Given the description of an element on the screen output the (x, y) to click on. 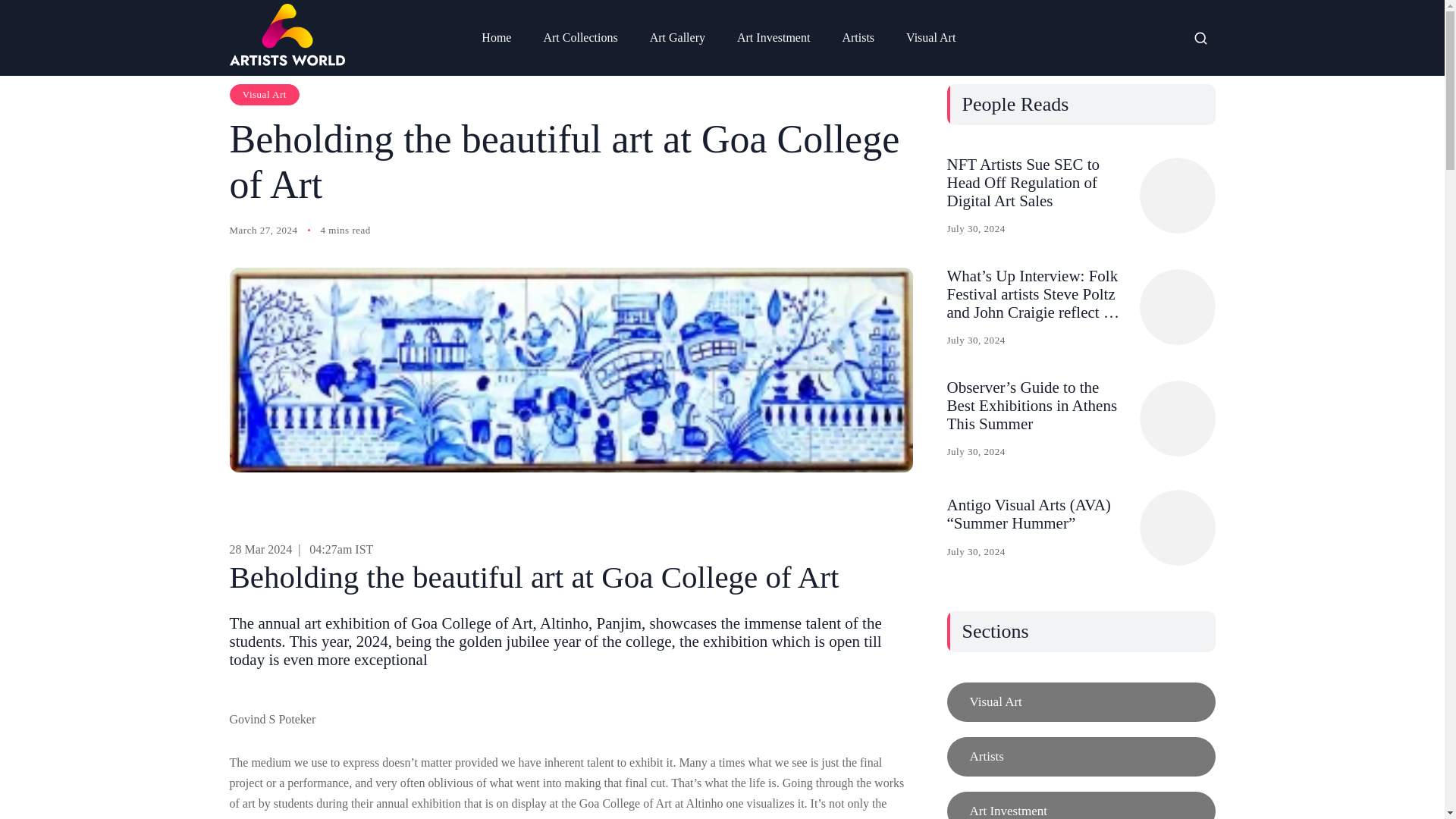
Visual Art (1080, 701)
Art Gallery (677, 38)
July 30, 2024 (975, 340)
Art Investment (773, 38)
Visual Art (263, 94)
Artists World (285, 34)
March 27, 2024 (262, 230)
Visual Art (930, 38)
Art Collections (579, 38)
July 30, 2024 (975, 228)
Artists (1080, 756)
